Given the description of an element on the screen output the (x, y) to click on. 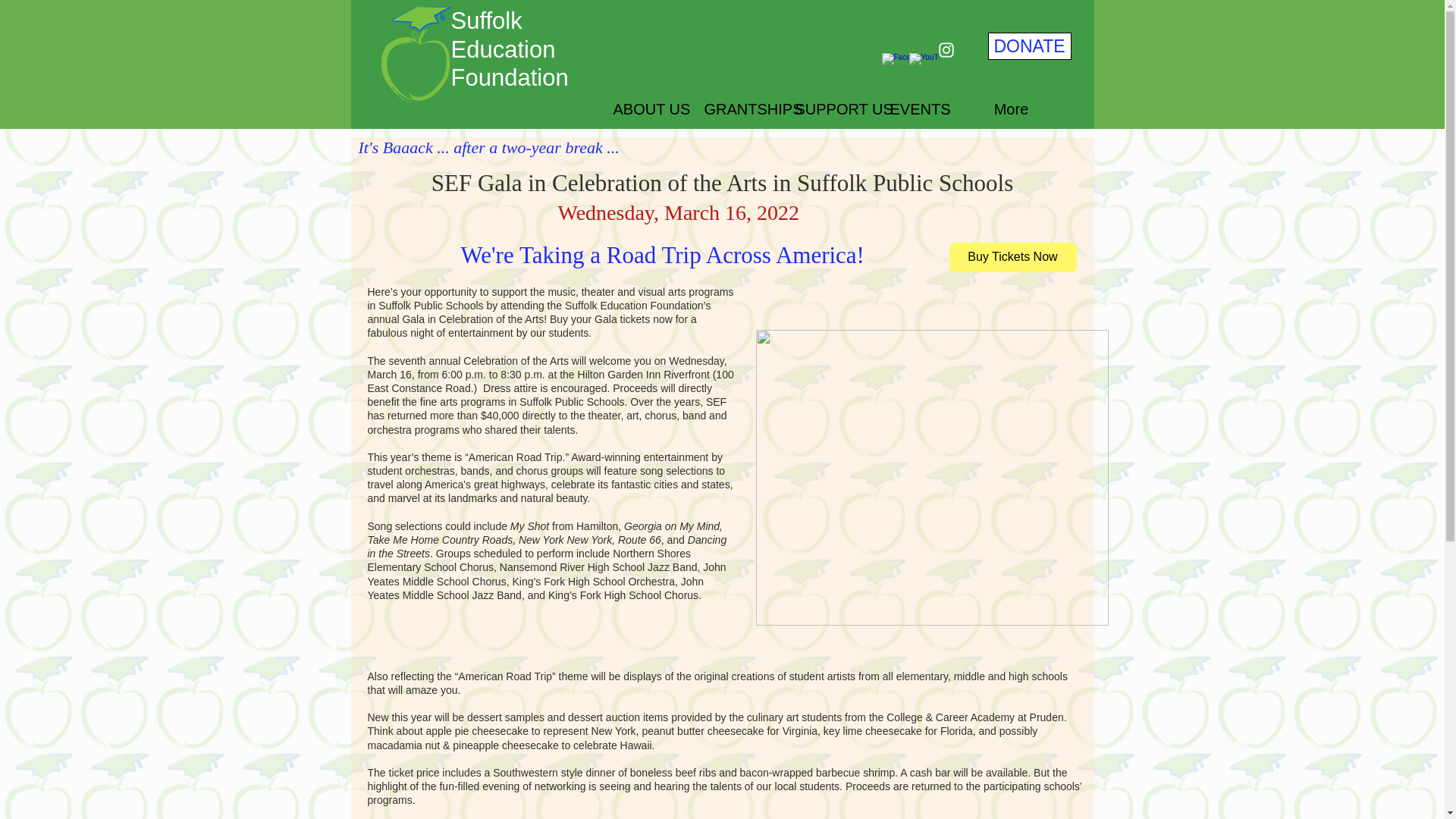
Buy Tickets Now (1013, 256)
DONATE (1028, 45)
